Given the description of an element on the screen output the (x, y) to click on. 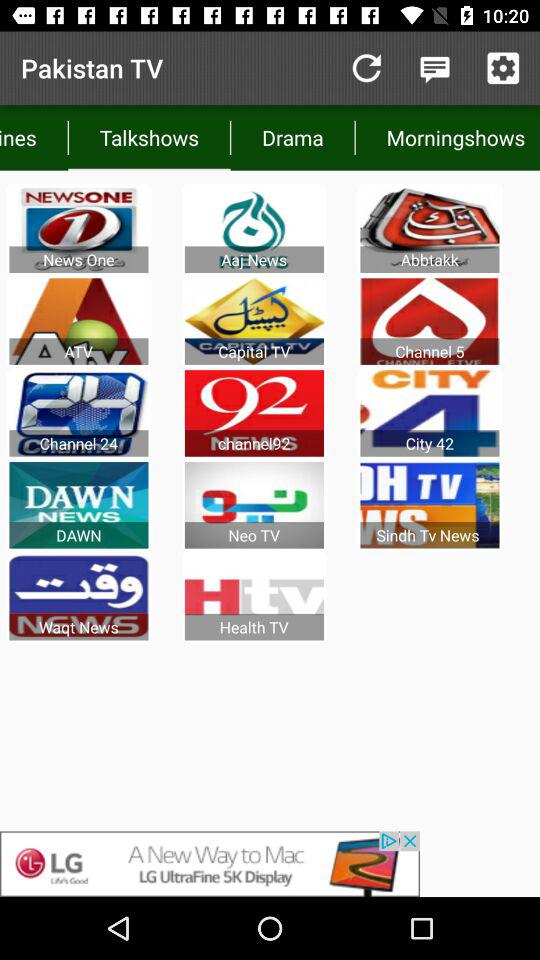
leave comment (434, 67)
